Given the description of an element on the screen output the (x, y) to click on. 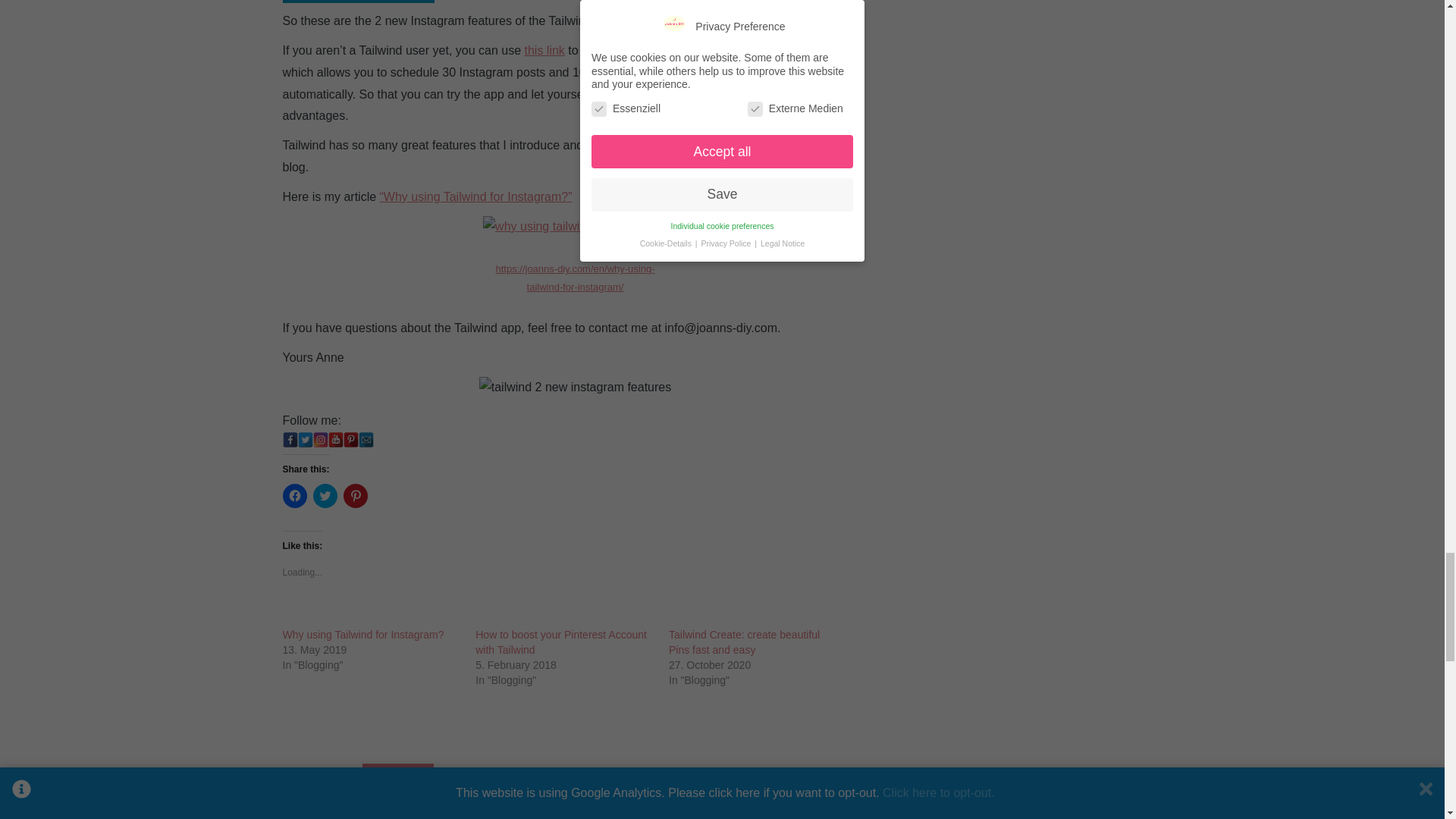
Click to share on Twitter (324, 495)
Facebook (289, 439)
Pinterest (350, 439)
this link (544, 50)
How to boost your Pinterest Account with Tailwind (561, 642)
Tailwind page (671, 50)
Instagram (320, 439)
Click to share on Facebook (293, 495)
YouTube (334, 439)
Twitter (305, 439)
Email (365, 439)
Why using Tailwind for Instagram? (363, 634)
Click to share on Pinterest (354, 495)
